Given the description of an element on the screen output the (x, y) to click on. 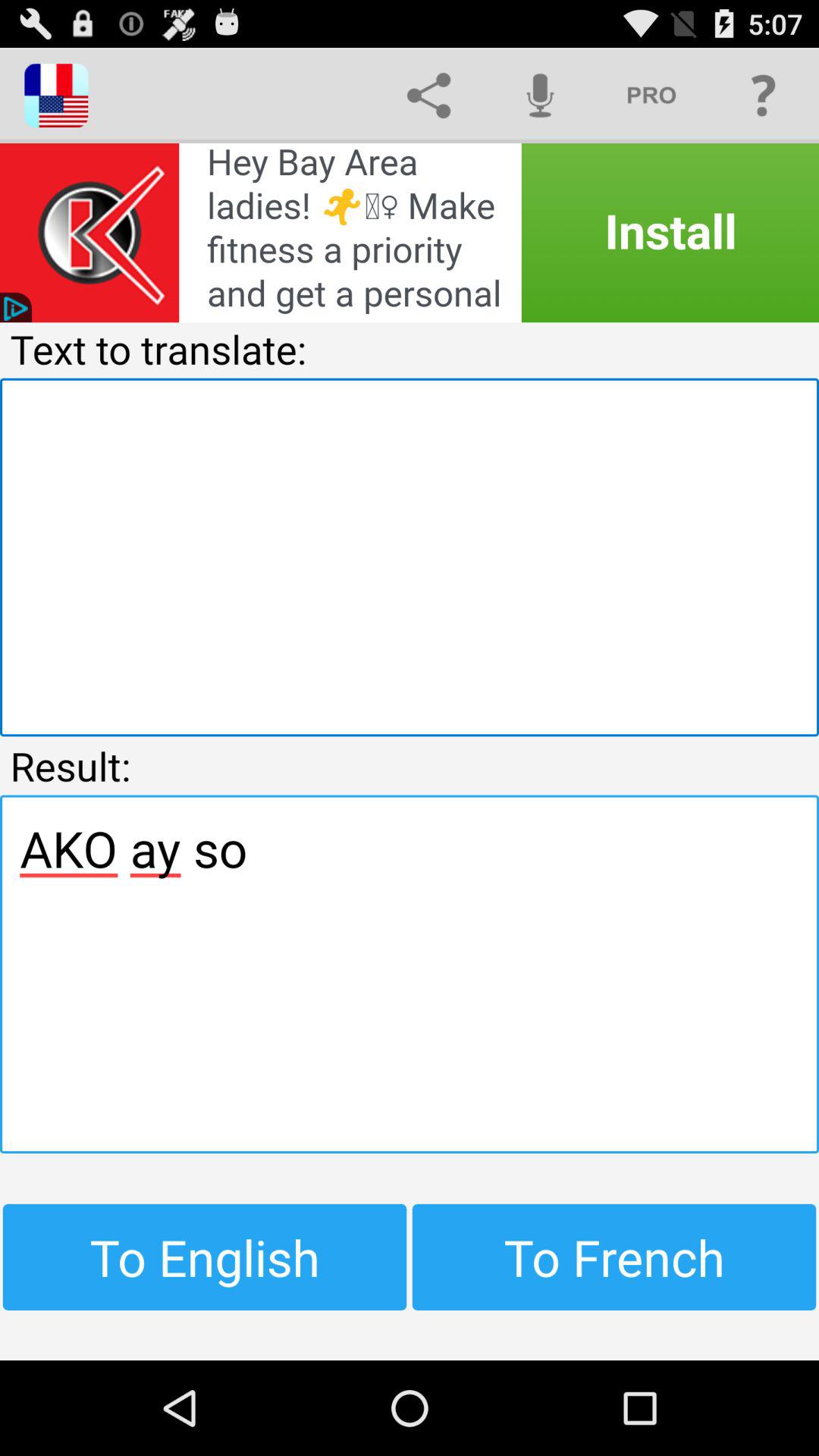
advertisement for a fitness advertisement for women (409, 232)
